Given the description of an element on the screen output the (x, y) to click on. 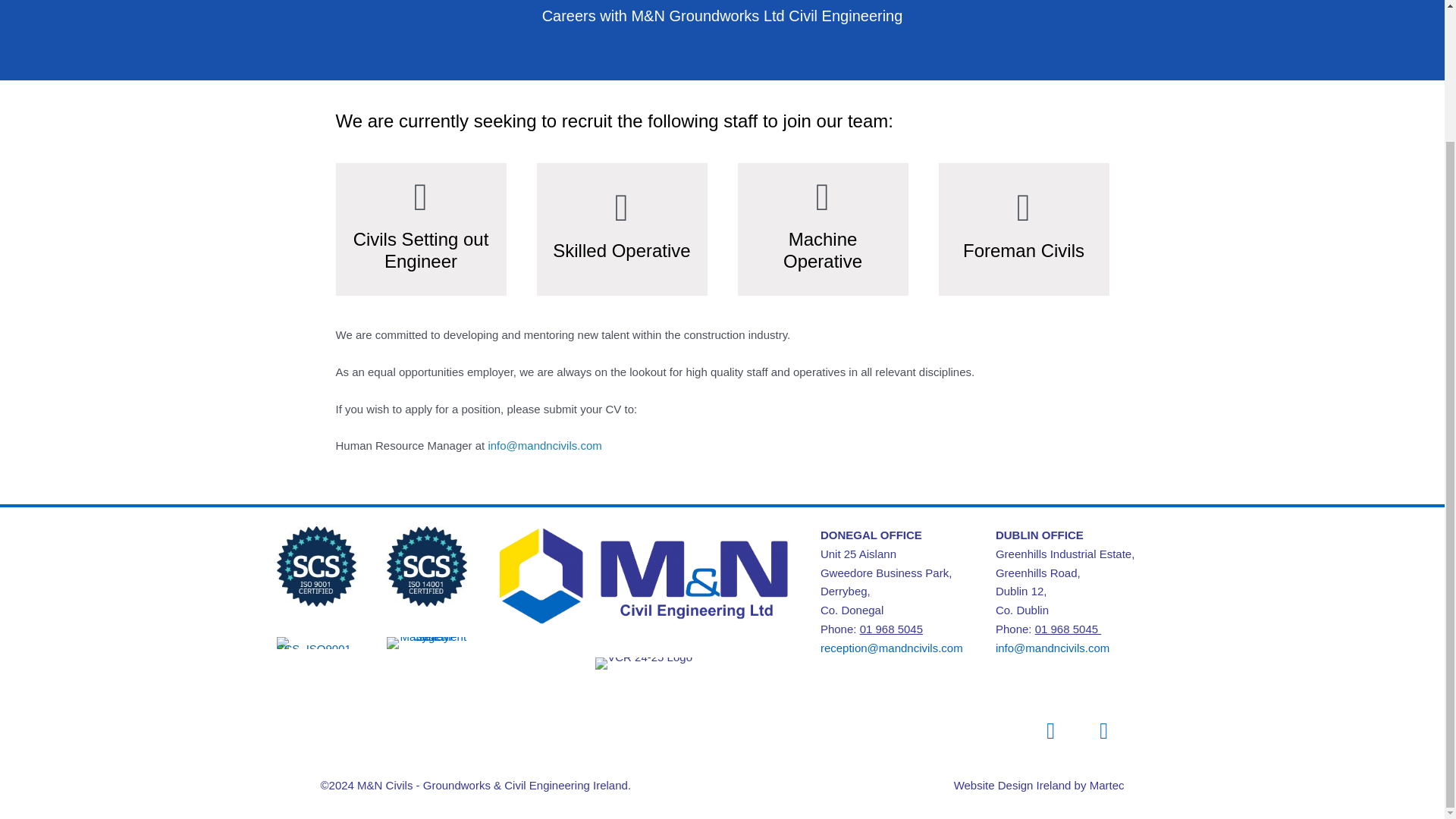
MN-Civils-new-logo-no-website-link (643, 576)
Website Design Galway (1012, 784)
Facebook (1050, 730)
LinkedIn (1103, 730)
Website Design Ireland (1012, 784)
Martec (1106, 784)
VCR 24-25 Logo (644, 663)
